Given the description of an element on the screen output the (x, y) to click on. 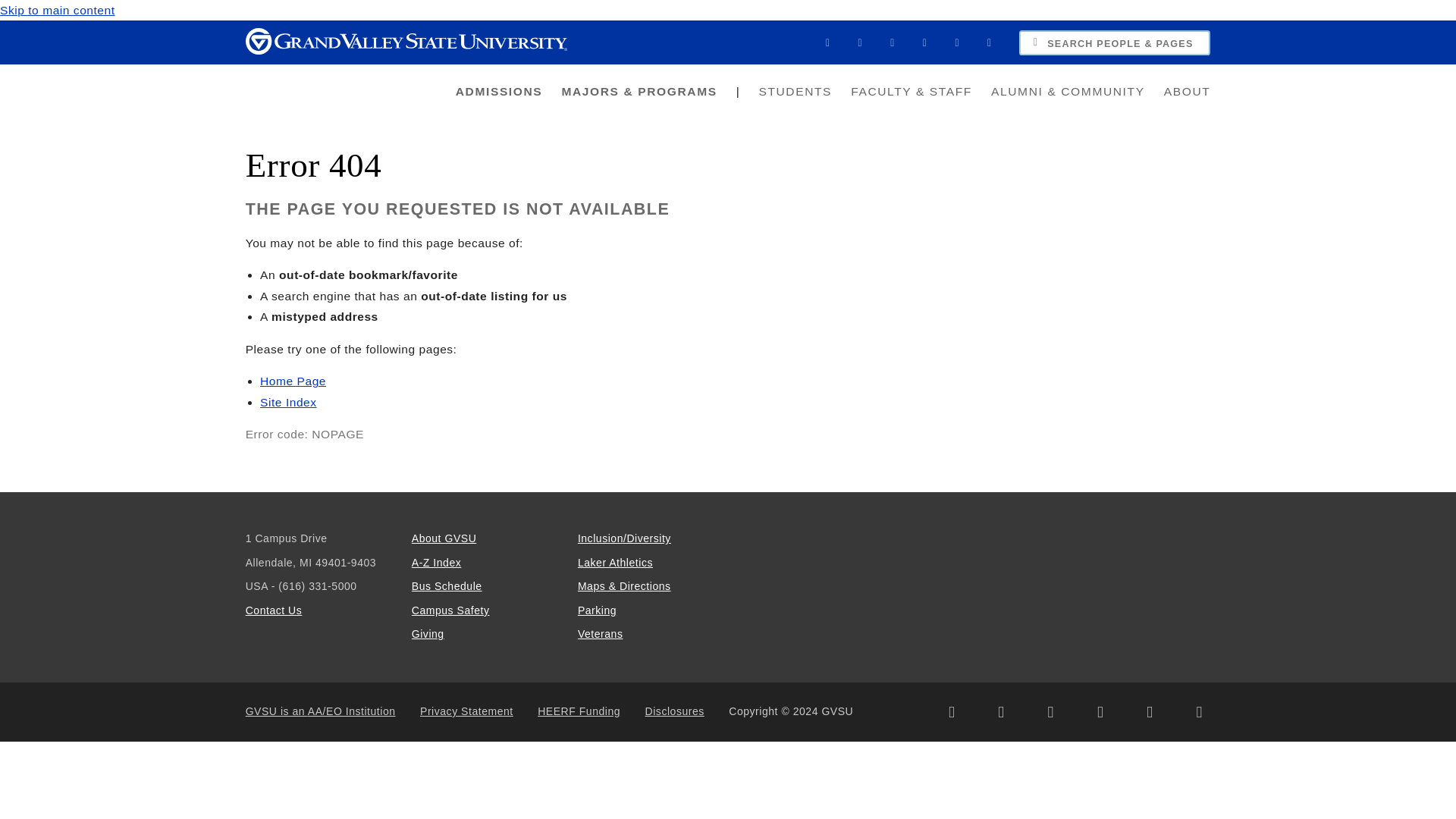
Contact Us (274, 610)
Library (989, 42)
Blackboard (828, 42)
Parking (596, 610)
Grand Valley State University A-Z Website Index (436, 562)
About GVSU (444, 538)
Bus Schedule (446, 585)
Grand Valley State University Campus Maps and Directions (624, 585)
Student Email (956, 42)
Grand Valley State University Parking Services (596, 610)
Banner (860, 42)
A-Z Index (436, 562)
Home Page (293, 380)
Give to Grand Valley State University (428, 633)
Grand Valley State University Veterans Network (600, 633)
